Given the description of an element on the screen output the (x, y) to click on. 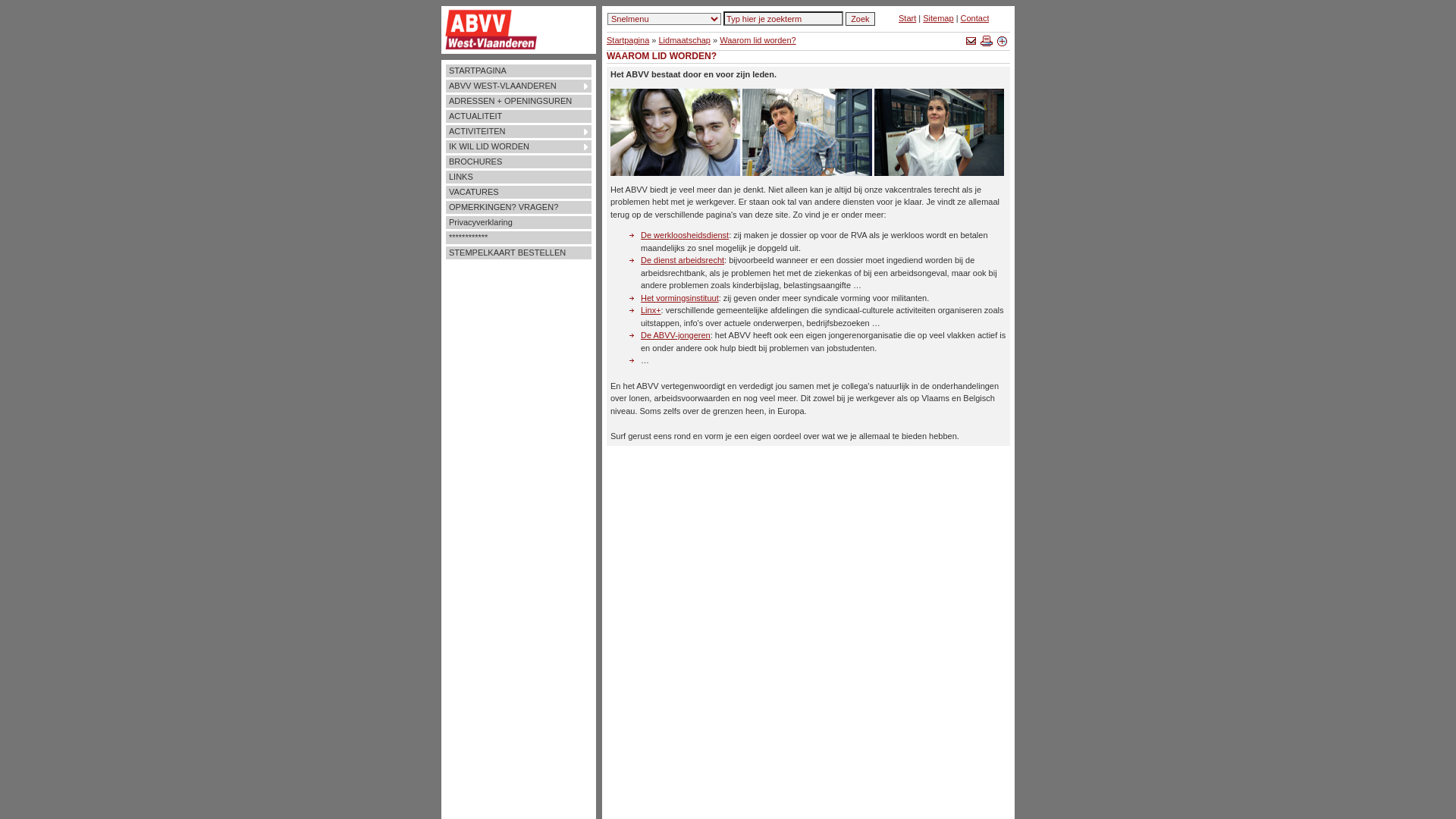
Start Element type: text (907, 17)
Print deze pagina (printervriendelijk) Element type: hover (987, 41)
De dienst arbeidsrecht Element type: text (682, 259)
ADRESSEN + OPENINGSUREN Element type: text (518, 100)
Sitemap Element type: text (937, 17)
OPMERKINGEN? VRAGEN? Element type: text (518, 206)
De ABVV-jongeren Element type: text (675, 334)
Privacyverklaring Element type: text (518, 222)
STARTPAGINA Element type: text (518, 70)
ABVV leden Element type: hover (675, 131)
ABVV lid Element type: hover (939, 131)
VACATURES Element type: text (518, 191)
STEMPELKAART BESTELLEN Element type: text (518, 252)
De werkloosheidsdienst Element type: text (684, 234)
Contact Element type: text (974, 17)
ACTUALITEIT Element type: text (518, 115)
ACTIVITEITEN Element type: text (518, 131)
Vergroot de tekst Element type: hover (1001, 41)
Linx+ Element type: text (650, 309)
E-mail deze pagina naar een vriend Element type: hover (972, 42)
Lidmaatschap Element type: text (684, 39)
BROCHURES Element type: text (518, 161)
Startpagina Element type: text (627, 39)
Waarom lid worden? Element type: text (757, 39)
Zoek Element type: text (859, 18)
LINKS Element type: text (518, 176)
************ Element type: text (518, 237)
ABVV WEST-VLAANDEREN Element type: text (518, 85)
IK WIL LID WORDEN Element type: text (518, 146)
ABVV lid Element type: hover (807, 131)
Het vormingsinstituut Element type: text (679, 296)
